Given the description of an element on the screen output the (x, y) to click on. 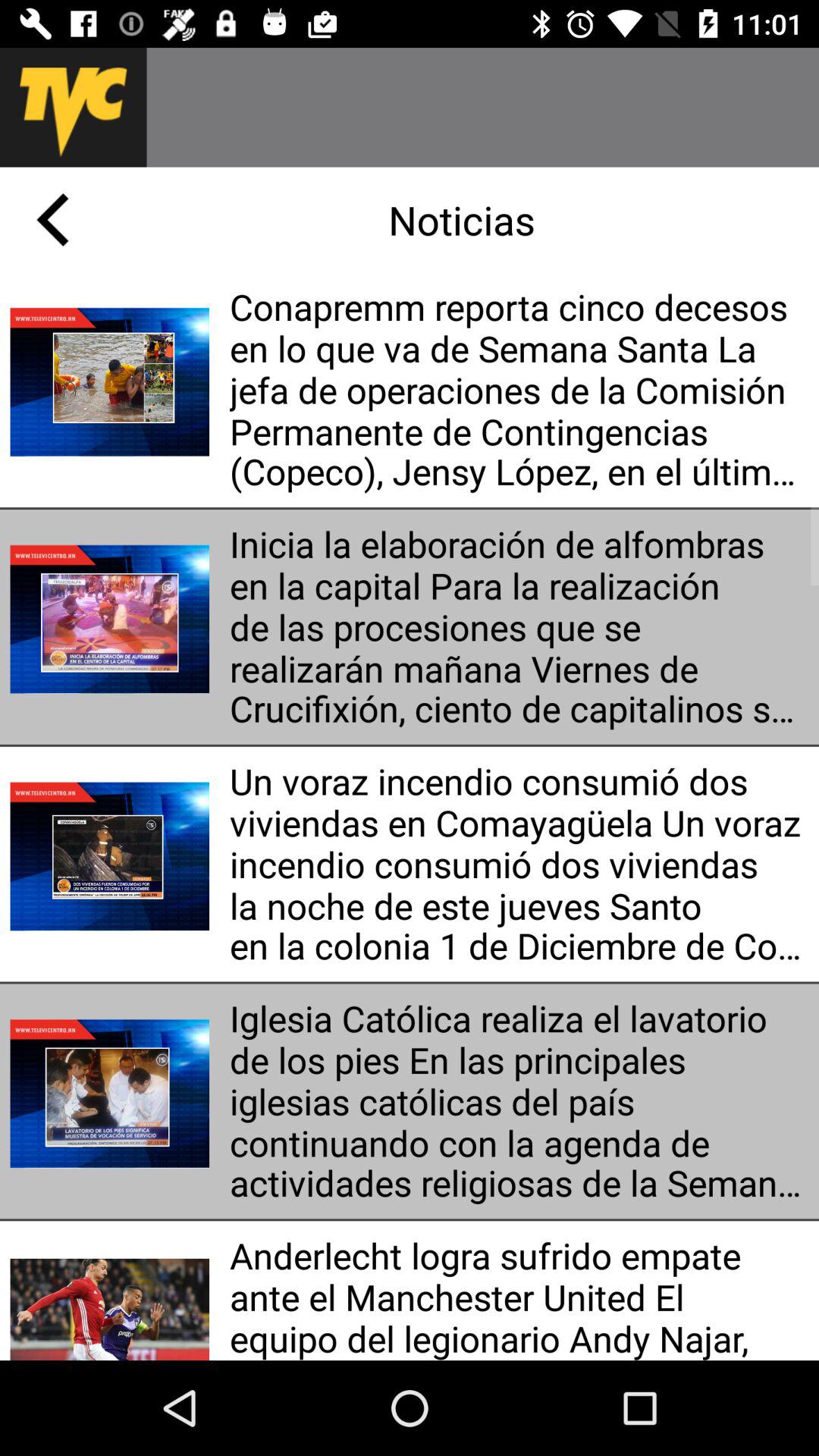
open the icon to the left of the noticias app (52, 219)
